Given the description of an element on the screen output the (x, y) to click on. 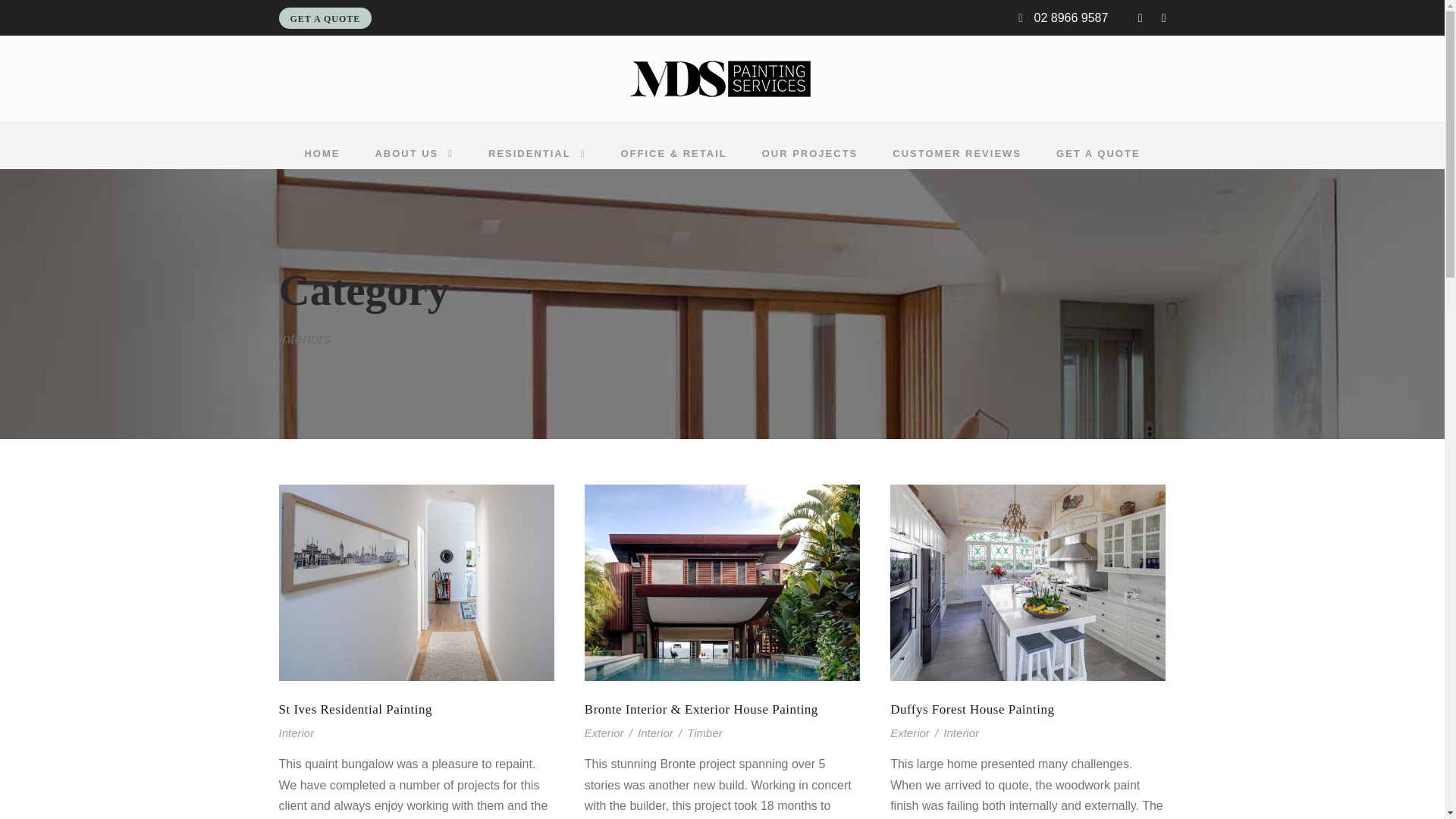
Interior (960, 732)
CUSTOMER REVIEWS (957, 156)
duffys-forest-kitchen (1027, 582)
Exterior (604, 732)
St Ives Residential Painting (355, 708)
HOME (321, 156)
Interior (654, 732)
GET A QUOTE (1098, 156)
eastern-suburbs-commercial-painter (722, 582)
Modern-decor-sydney-sm (721, 78)
